Given the description of an element on the screen output the (x, y) to click on. 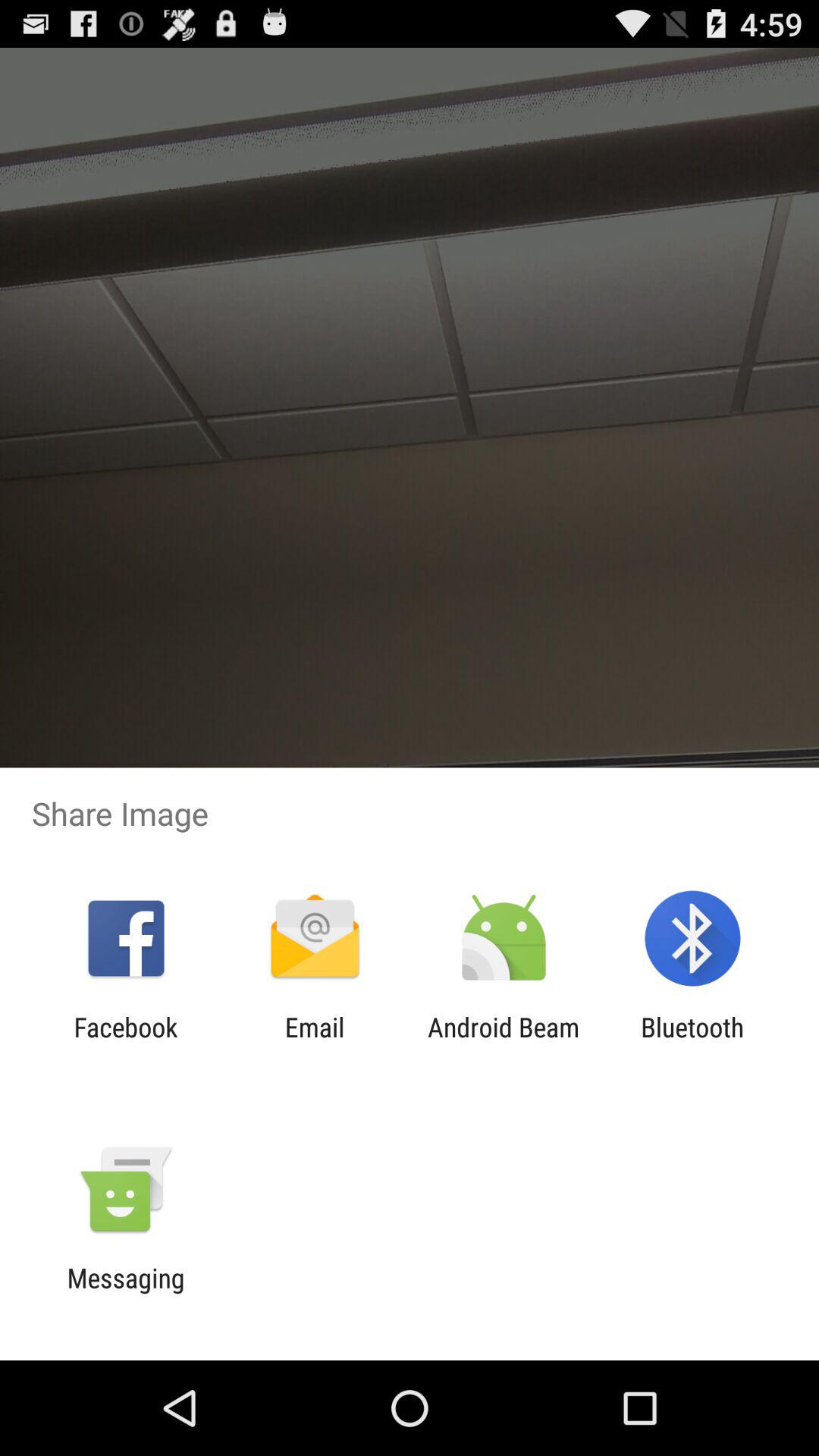
turn on icon next to android beam icon (314, 1042)
